Given the description of an element on the screen output the (x, y) to click on. 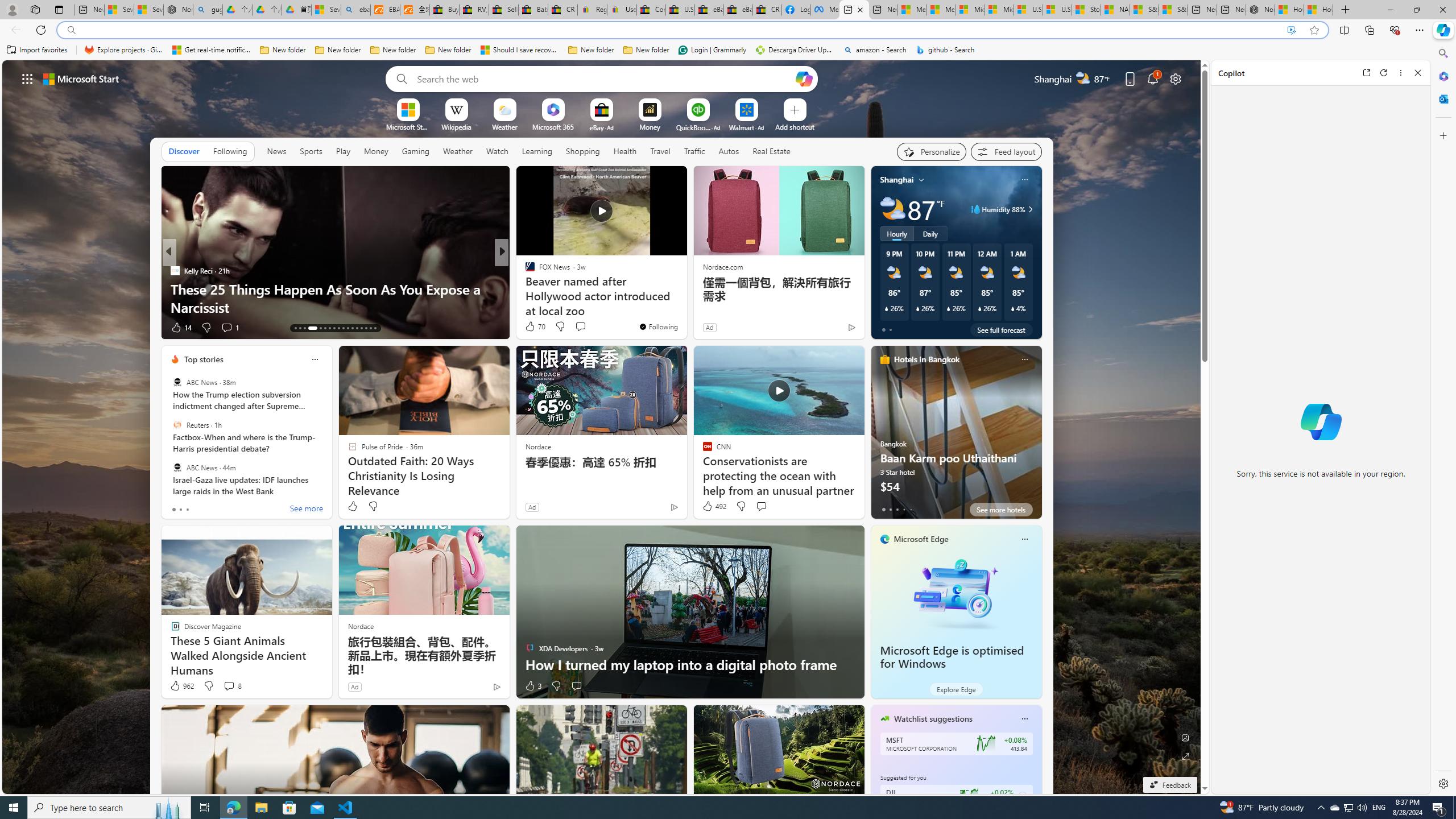
70 Like (534, 326)
492 Like (713, 505)
Like (352, 505)
U.S. State Privacy Disclosures - eBay Inc. (679, 9)
See more hotels (1000, 509)
AutomationID: tab-32 (361, 328)
Customize (1442, 135)
eBay Inc. Reports Third Quarter 2023 Results (738, 9)
